Given the description of an element on the screen output the (x, y) to click on. 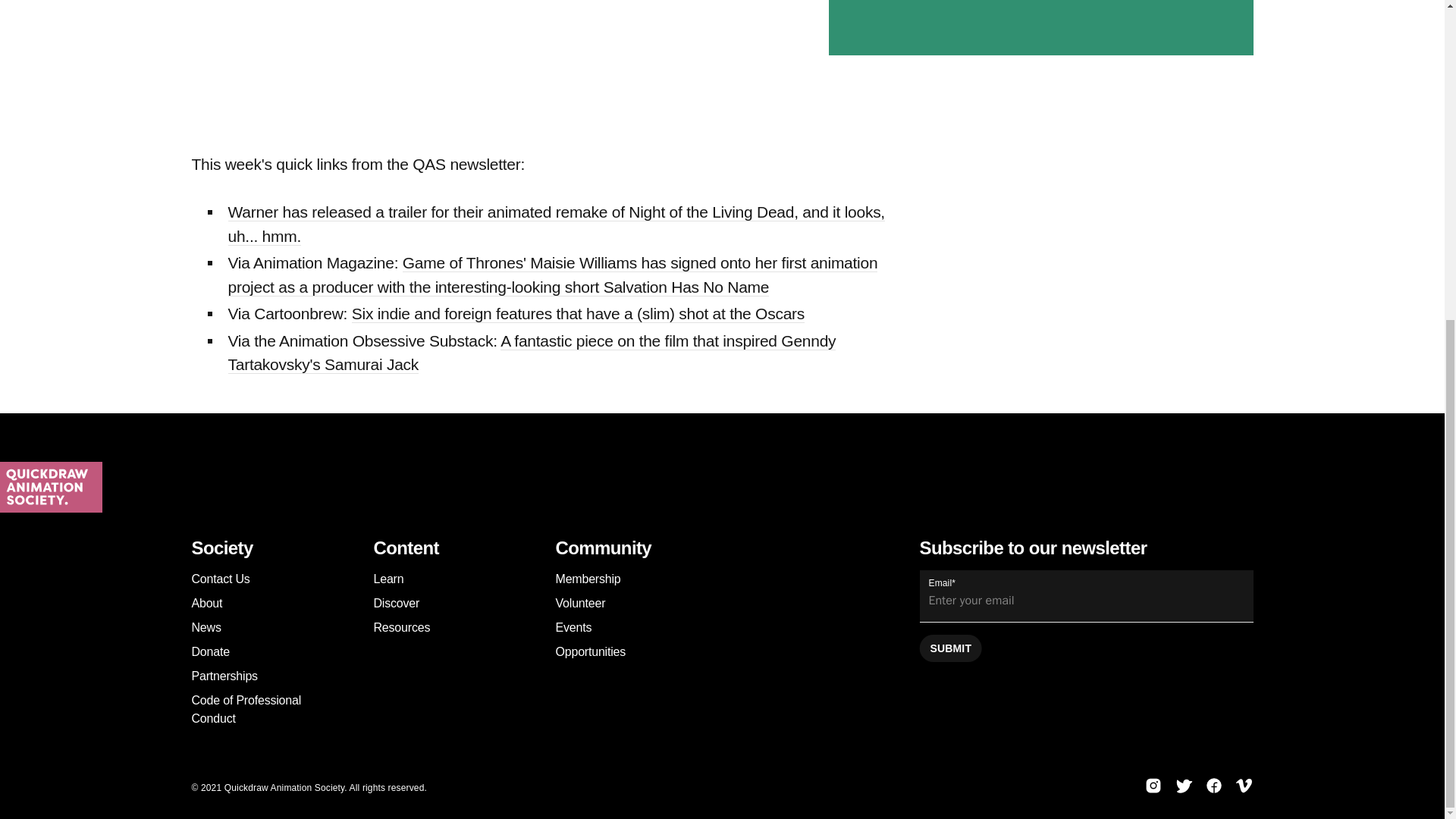
Discover (395, 603)
Partnerships (223, 675)
Donate (209, 651)
Code of Professional Conduct (245, 708)
Resources (400, 626)
News (205, 626)
About (206, 603)
SUBMIT (949, 647)
Events (572, 626)
Volunteer (579, 603)
Membership (587, 578)
Opportunities (590, 651)
Learn (387, 578)
Contact Us (219, 578)
